Given the description of an element on the screen output the (x, y) to click on. 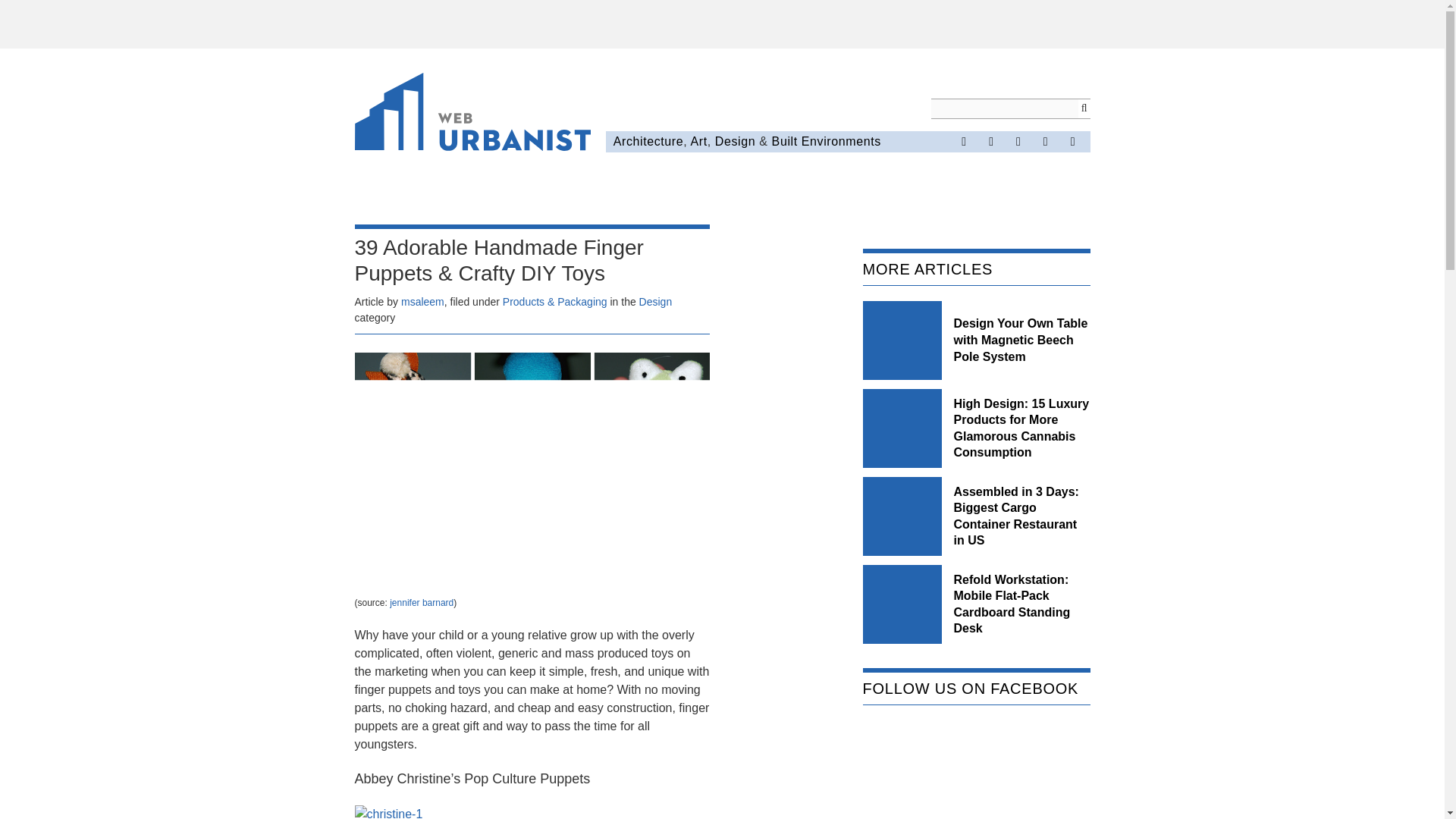
msaleem (422, 301)
Check Out Posts on Pinterest! (1018, 141)
WebUrbanist (473, 114)
Subscribe to the RSS Feed! (1045, 141)
Built (784, 141)
christine-1 (389, 812)
Become a Fan on Facebook! (963, 141)
jennifer barnard (421, 602)
Design (734, 141)
Follow Us on Twitter! (990, 141)
